Given the description of an element on the screen output the (x, y) to click on. 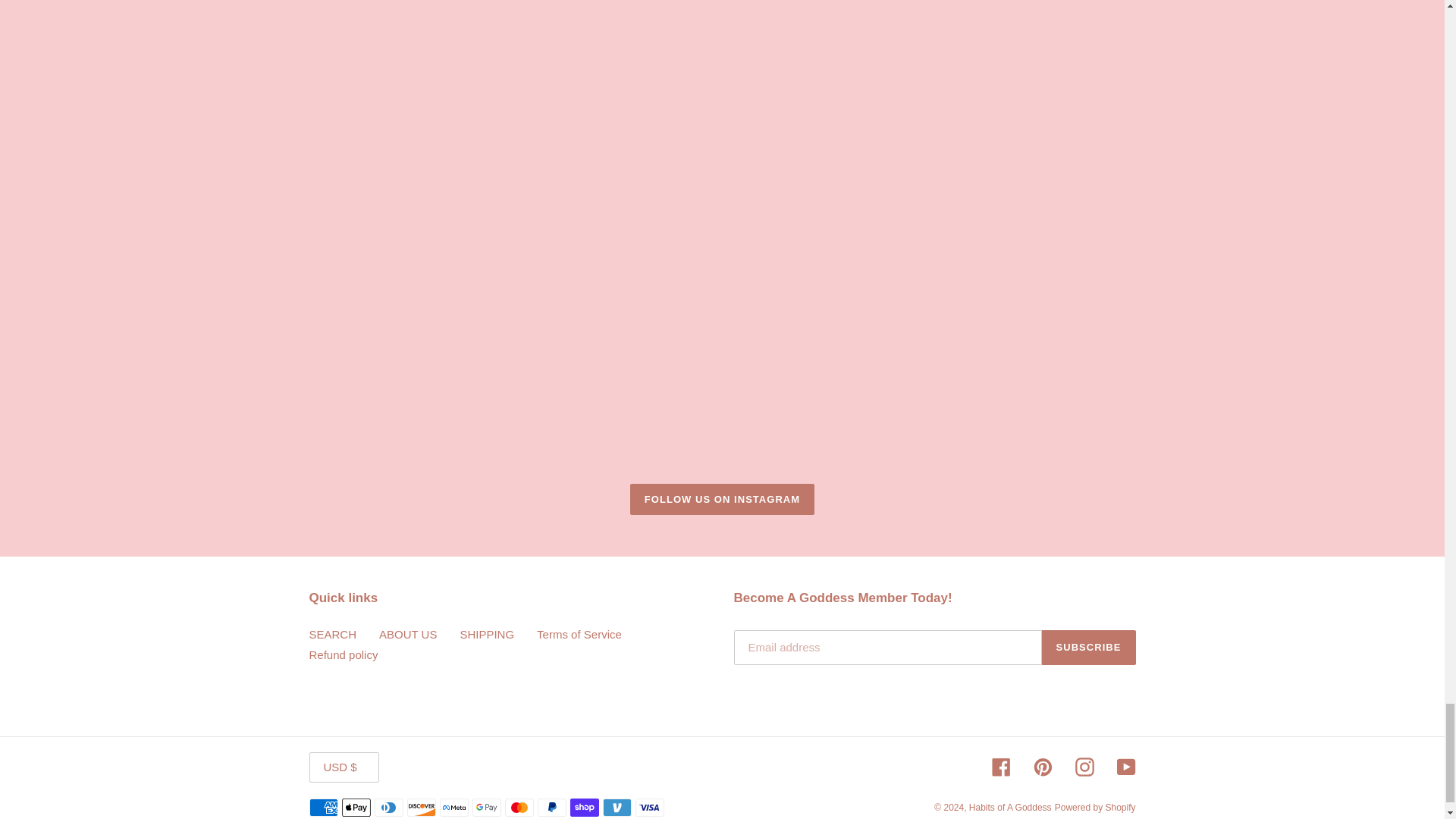
ABOUT US (407, 634)
SUBSCRIBE (1088, 647)
FOLLOW US ON INSTAGRAM (721, 499)
Terms of Service (579, 634)
SHIPPING (486, 634)
SEARCH (332, 634)
Refund policy (343, 654)
